Given the description of an element on the screen output the (x, y) to click on. 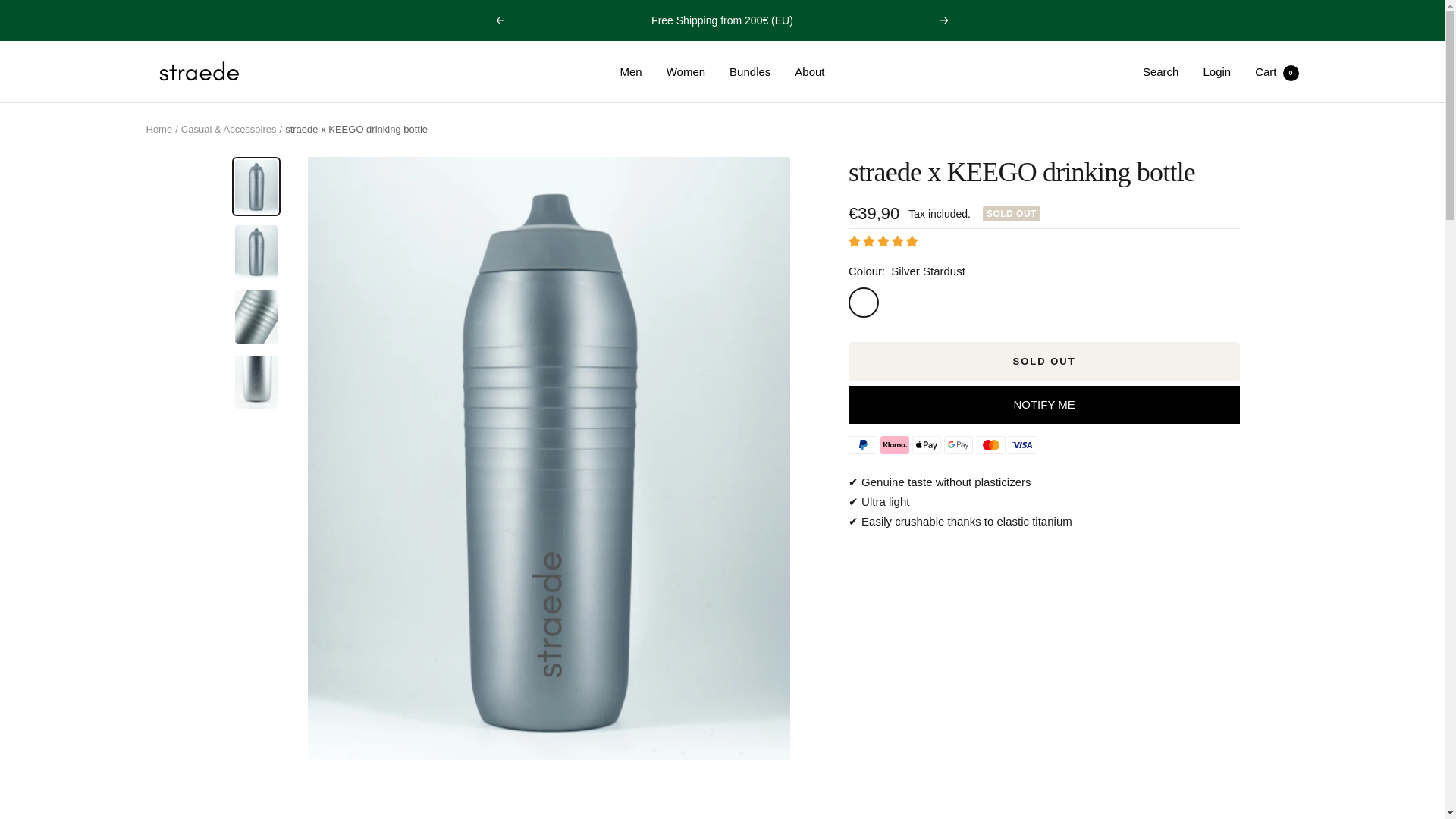
Mastercard (991, 444)
Login (1216, 71)
Next (1276, 71)
Google Pay (944, 20)
Bundles (957, 444)
Silver Stardust (749, 71)
Women (158, 129)
